Given the description of an element on the screen output the (x, y) to click on. 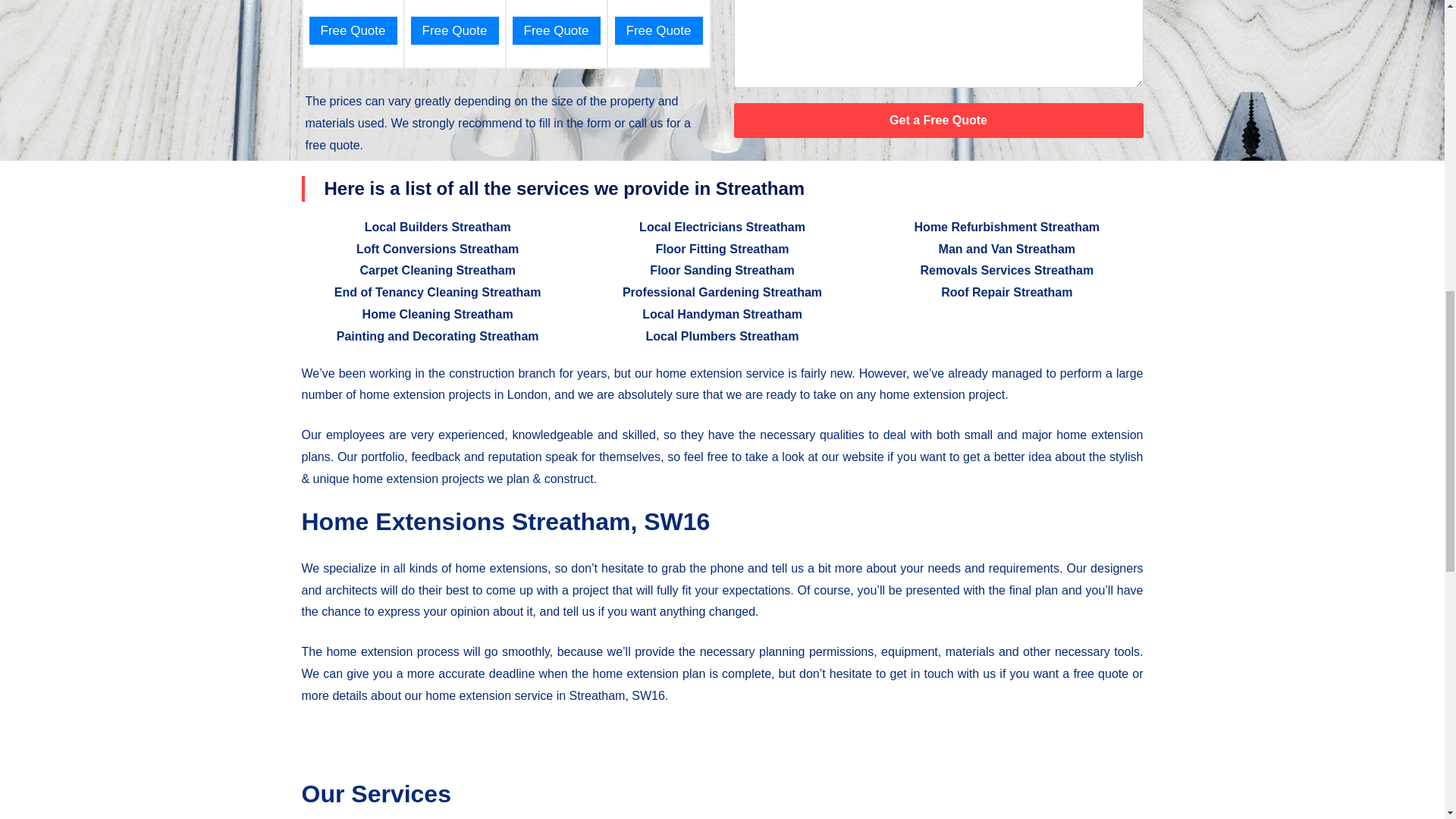
Get a Free Quote (937, 120)
Free Quote (657, 30)
Free Quote (555, 30)
Free Quote (352, 30)
Free Quote (454, 30)
Local Builders Streatham (438, 226)
Get a Free Quote (937, 120)
